Given the description of an element on the screen output the (x, y) to click on. 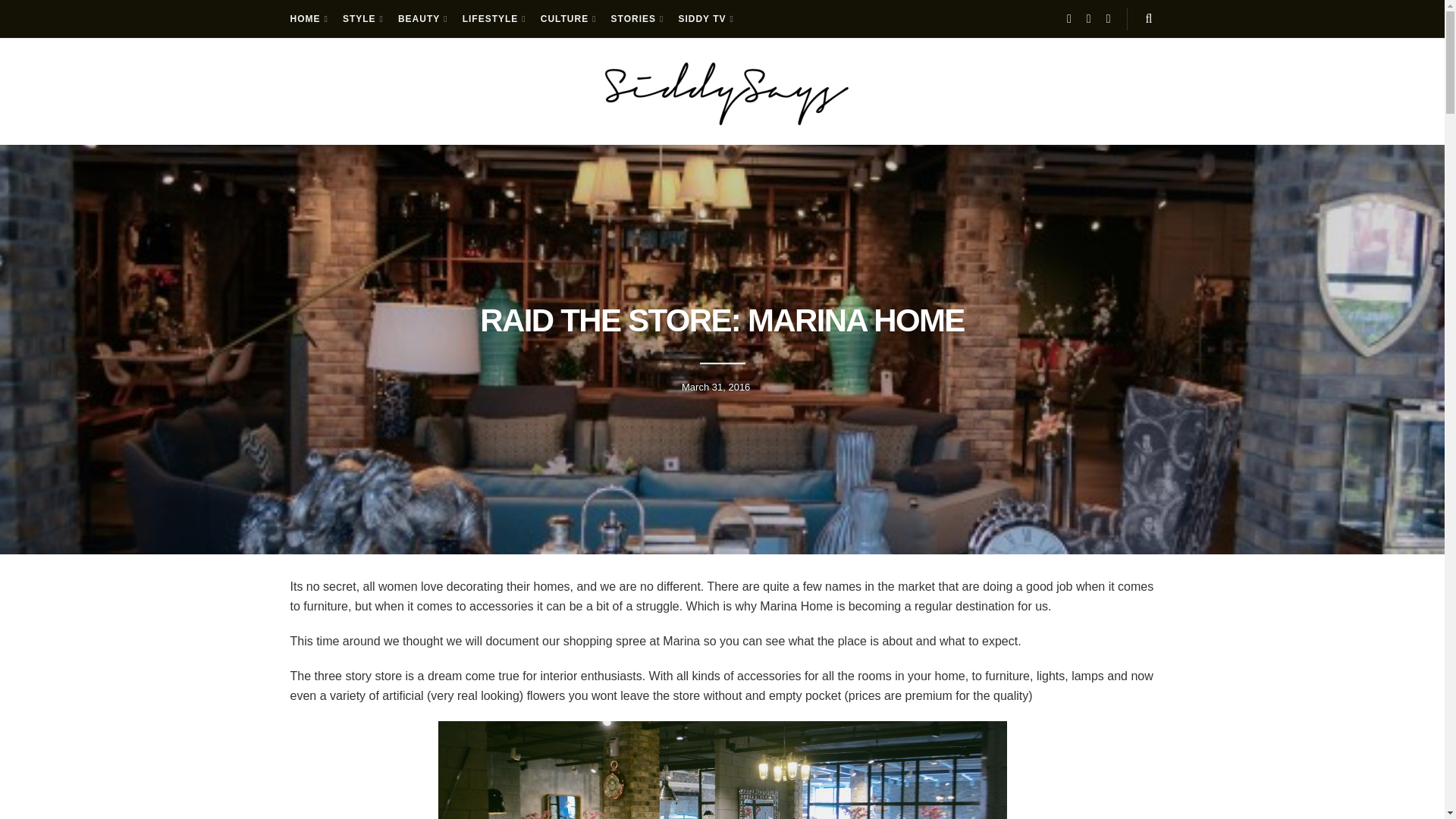
HOME (306, 18)
STORIES (636, 18)
BEAUTY (421, 18)
STYLE (361, 18)
CULTURE (567, 18)
SIDDY TV (705, 18)
LIFESTYLE (493, 18)
